Given the description of an element on the screen output the (x, y) to click on. 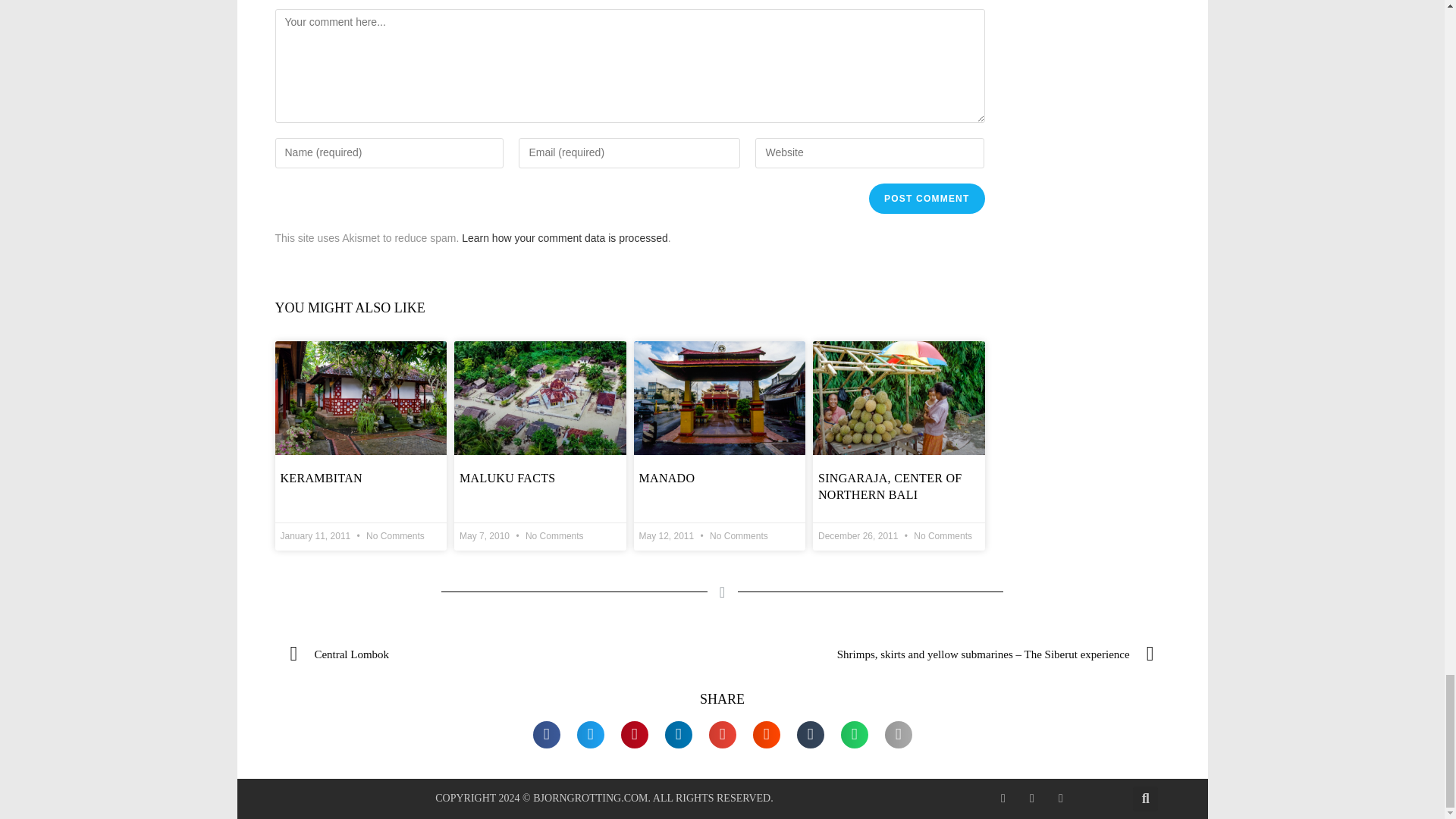
Post Comment (926, 198)
Learn how your comment data is processed (564, 237)
Post Comment (926, 198)
